Given the description of an element on the screen output the (x, y) to click on. 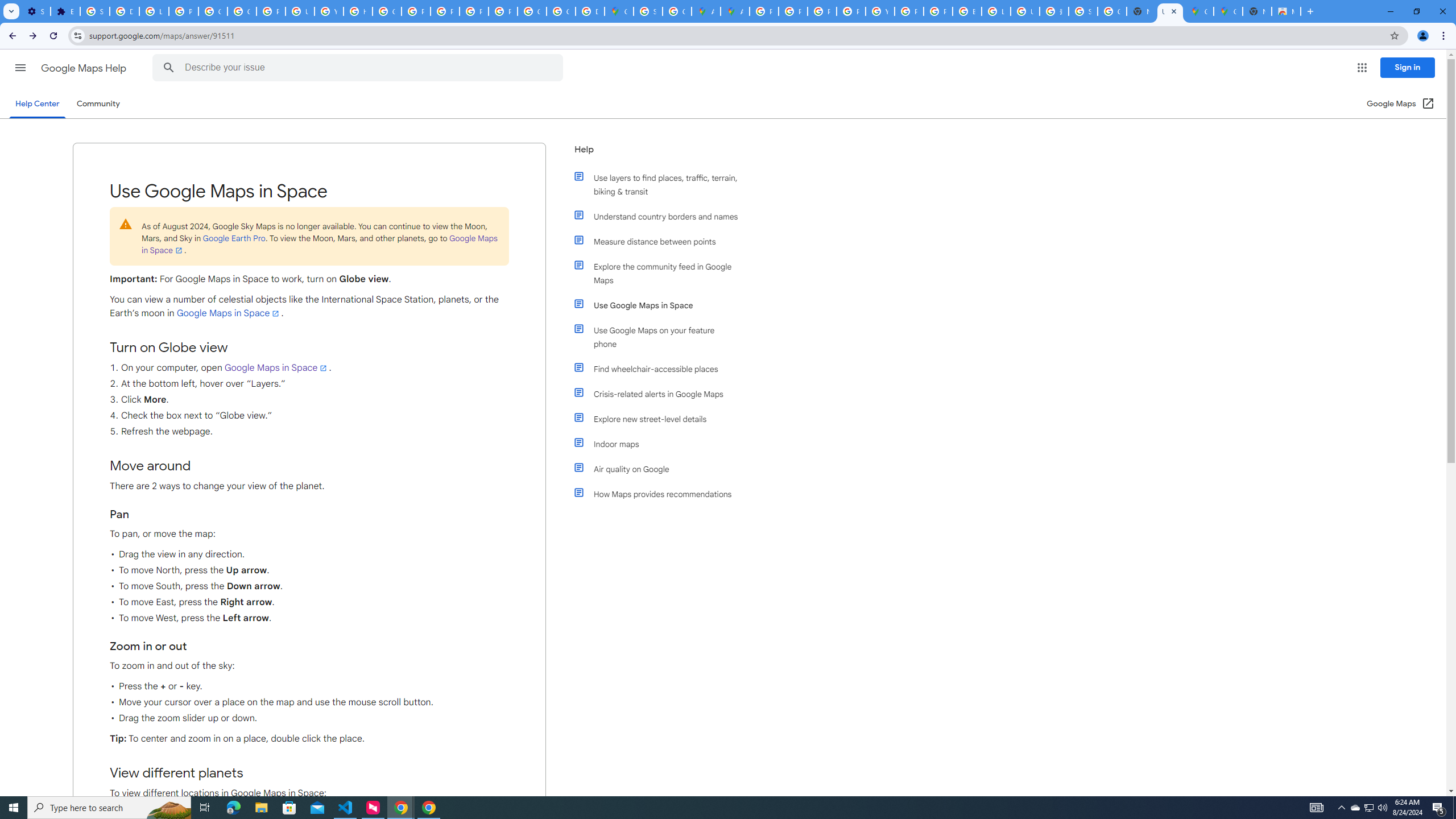
Privacy Help Center - Policies Help (792, 11)
Describe your issue (359, 67)
How Maps provides recommendations (661, 493)
Google Earth Pro (233, 238)
https://scholar.google.com/ (357, 11)
Google Account Help (212, 11)
